Given the description of an element on the screen output the (x, y) to click on. 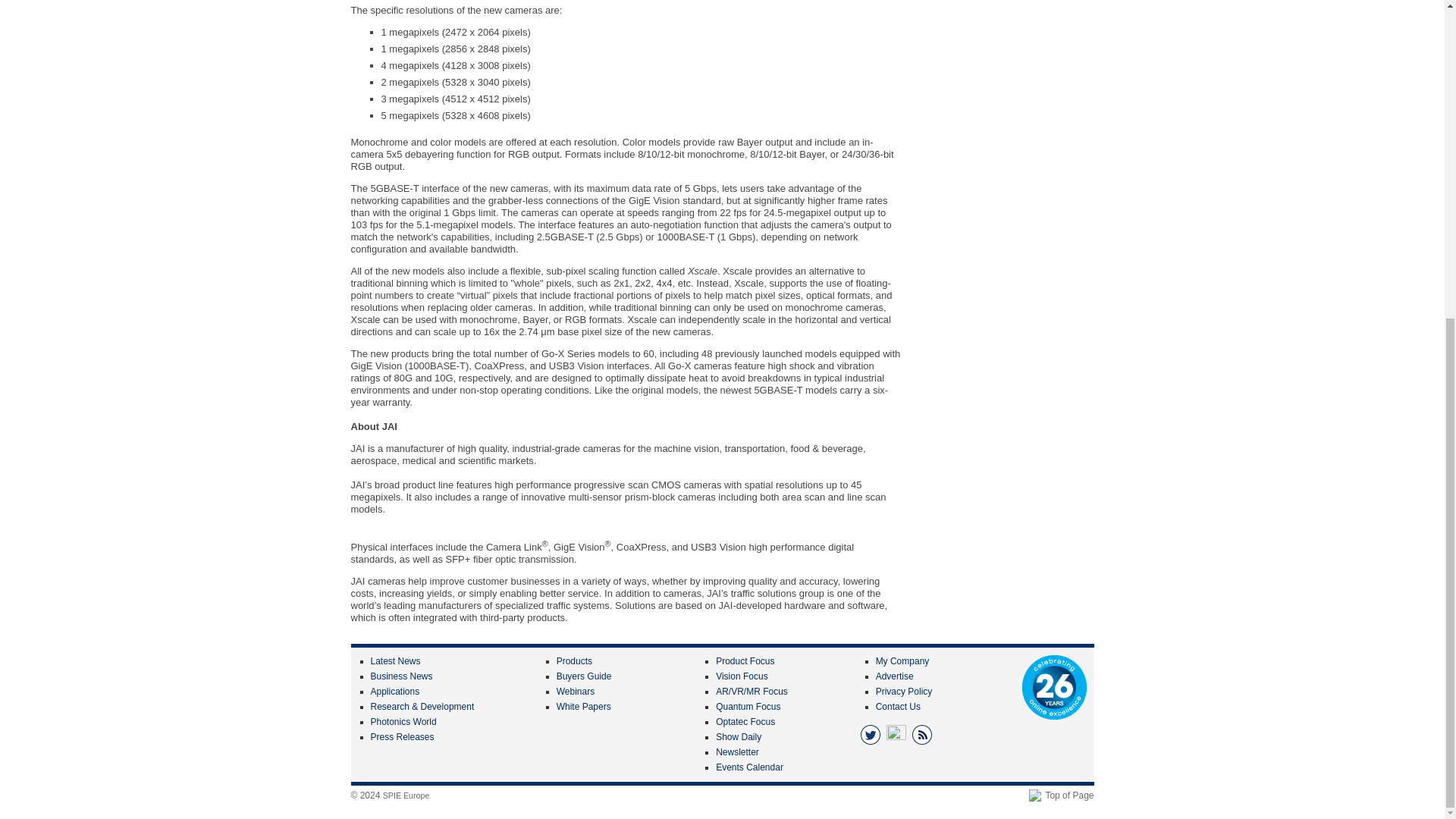
LinkedIn (895, 734)
Twitter (870, 734)
RSS Feeds (921, 734)
